Given the description of an element on the screen output the (x, y) to click on. 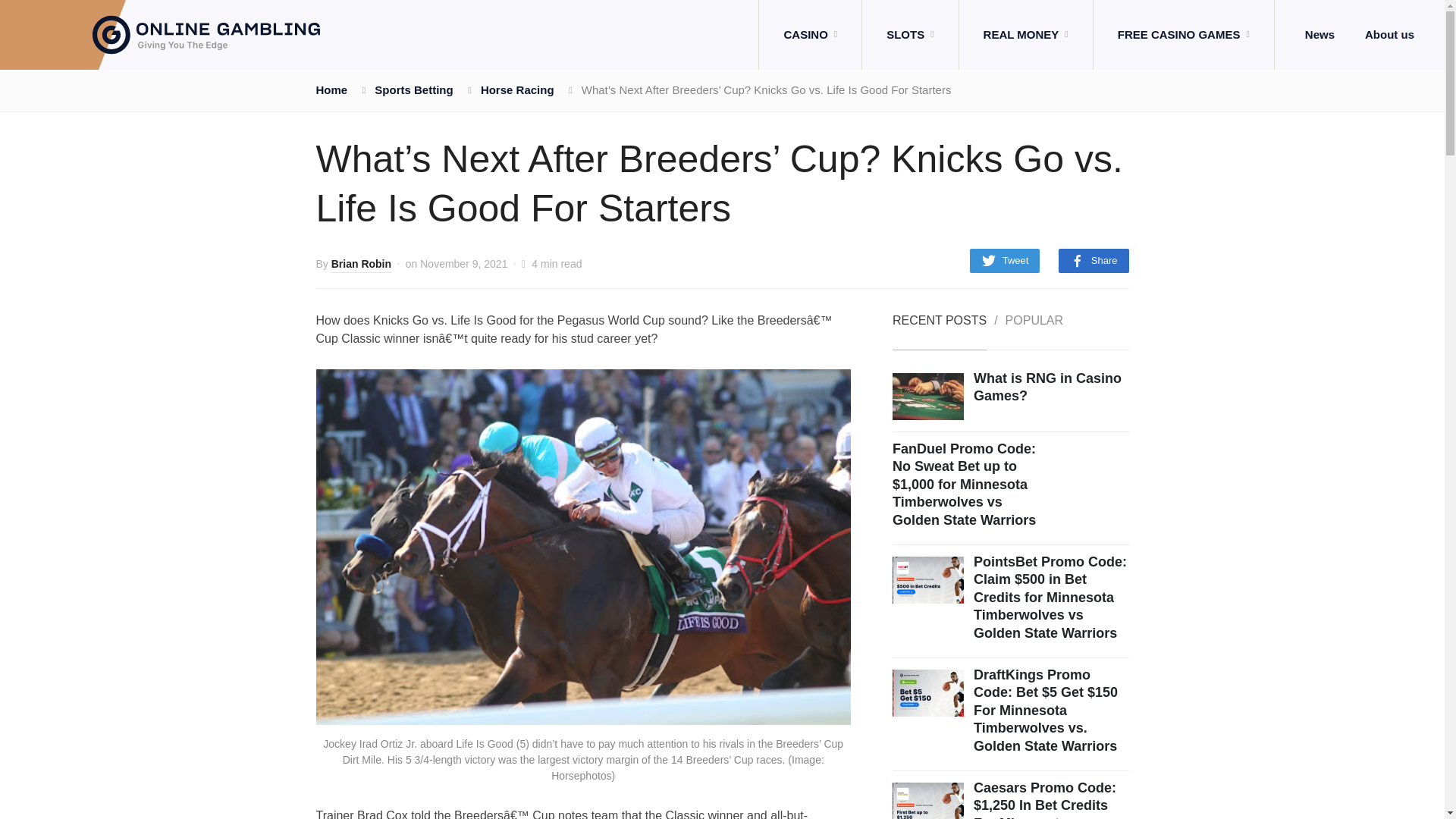
Recent Posts (939, 331)
Popular (1034, 331)
Tweet this on Twitter (1005, 260)
CASINO (809, 34)
Share this on Facebook (1093, 260)
Posts by Brian Robin (361, 264)
